Given the description of an element on the screen output the (x, y) to click on. 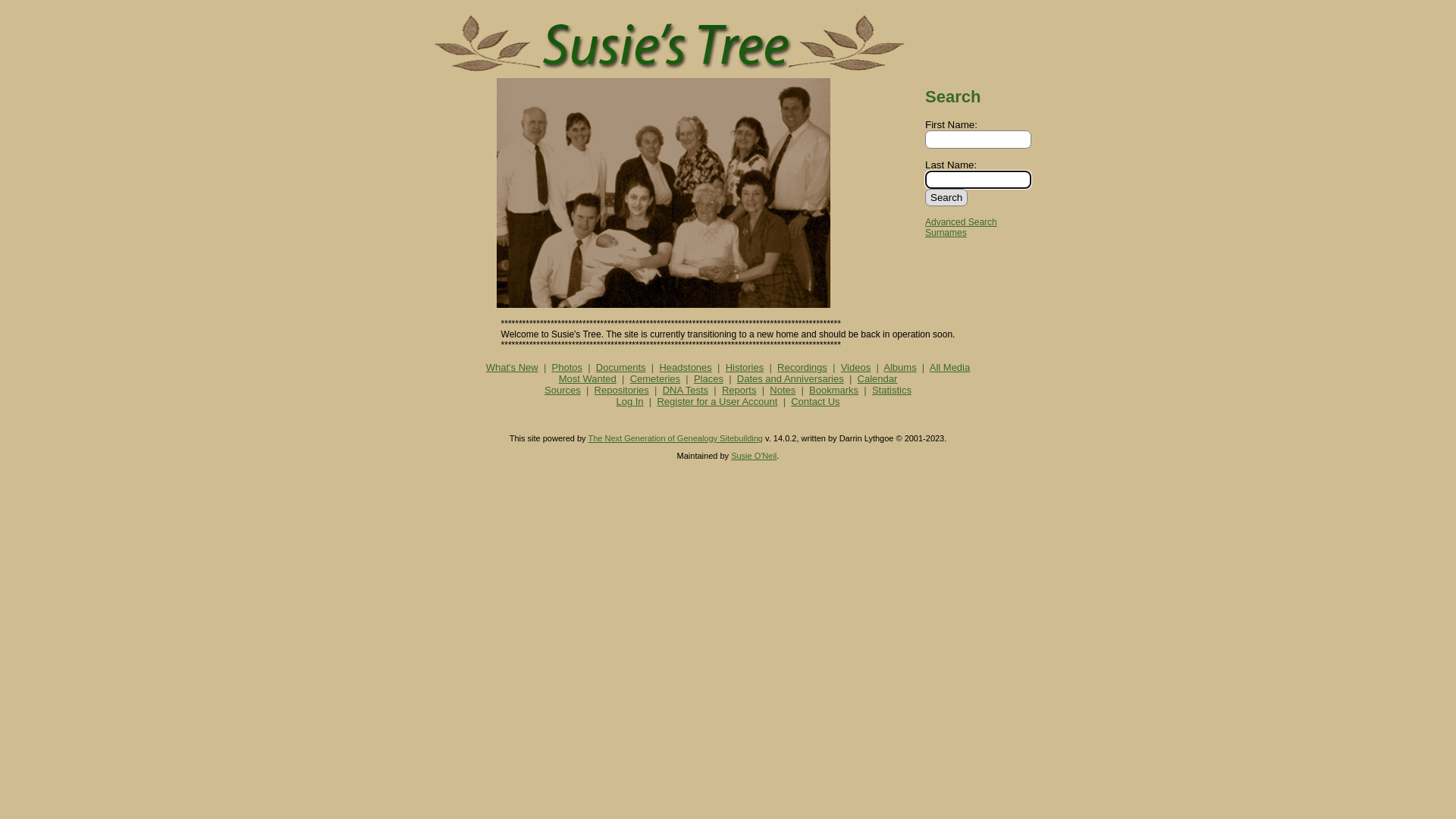
Videos Element type: text (855, 367)
Log In Element type: text (629, 401)
DNA Tests Element type: text (685, 389)
The Next Generation of Genealogy Sitebuilding Element type: text (674, 437)
Headstones Element type: text (684, 367)
Sources Element type: text (562, 389)
Surnames Element type: text (945, 232)
Albums Element type: text (899, 367)
Register for a User Account Element type: text (716, 401)
Places Element type: text (708, 378)
Contact Us Element type: text (814, 401)
Reports Element type: text (738, 389)
Photos Element type: text (567, 367)
Cemeteries Element type: text (655, 378)
Notes Element type: text (782, 389)
Search Element type: text (946, 197)
Susie O'Neil Element type: text (753, 455)
Most Wanted Element type: text (587, 378)
Recordings Element type: text (802, 367)
Bookmarks Element type: text (833, 389)
Statistics Element type: text (891, 389)
Documents Element type: text (621, 367)
Repositories Element type: text (621, 389)
Advanced Search Element type: text (961, 221)
All Media Element type: text (949, 367)
Histories Element type: text (744, 367)
Dates and Anniversaries Element type: text (790, 378)
What's New Element type: text (512, 367)
Calendar Element type: text (877, 378)
